Given the description of an element on the screen output the (x, y) to click on. 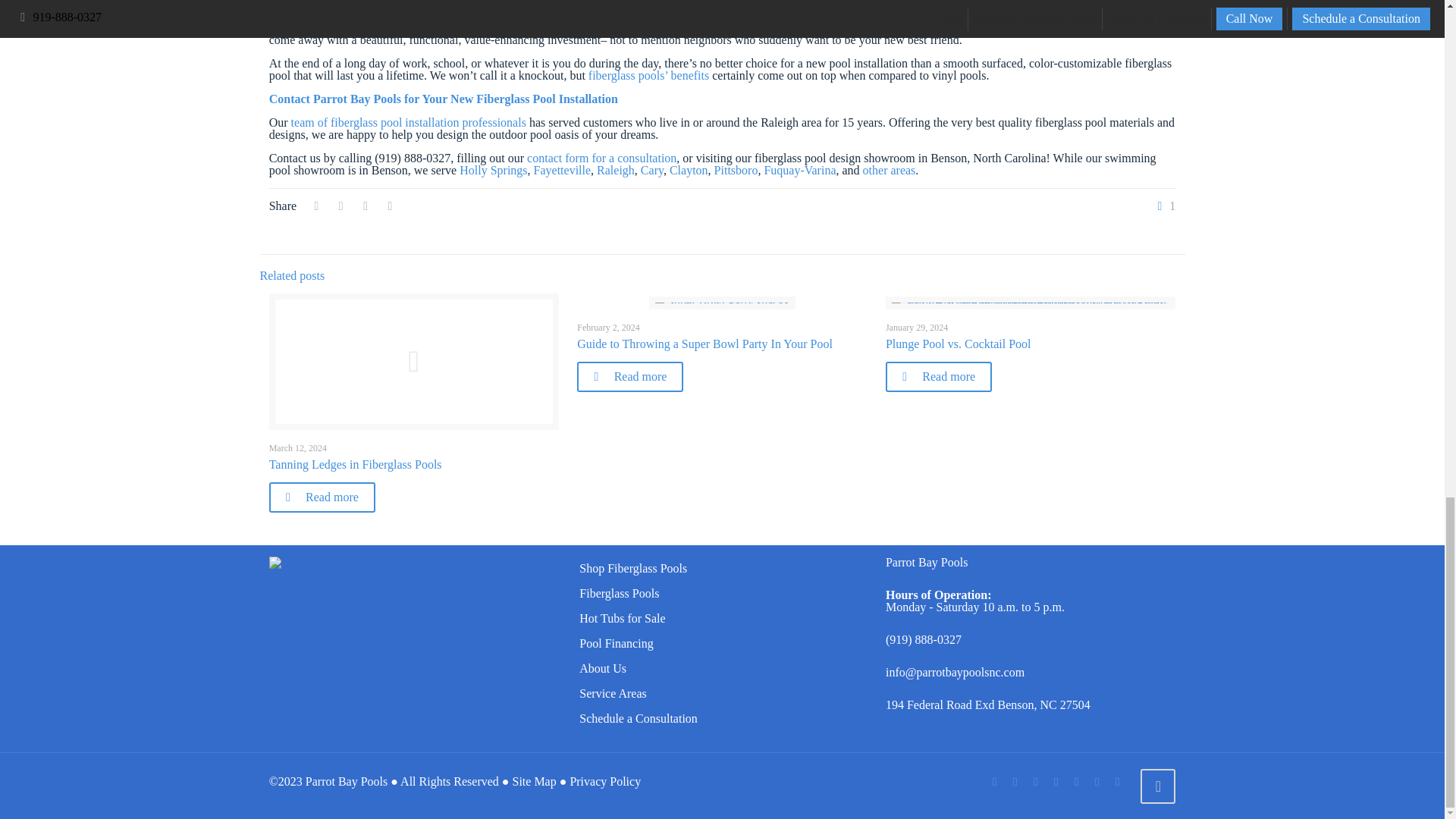
YouTube (1035, 781)
Pinterest (1076, 781)
Facebook (995, 781)
Instagram (1097, 781)
Twitter (1015, 781)
LinkedIn (1056, 781)
